Given the description of an element on the screen output the (x, y) to click on. 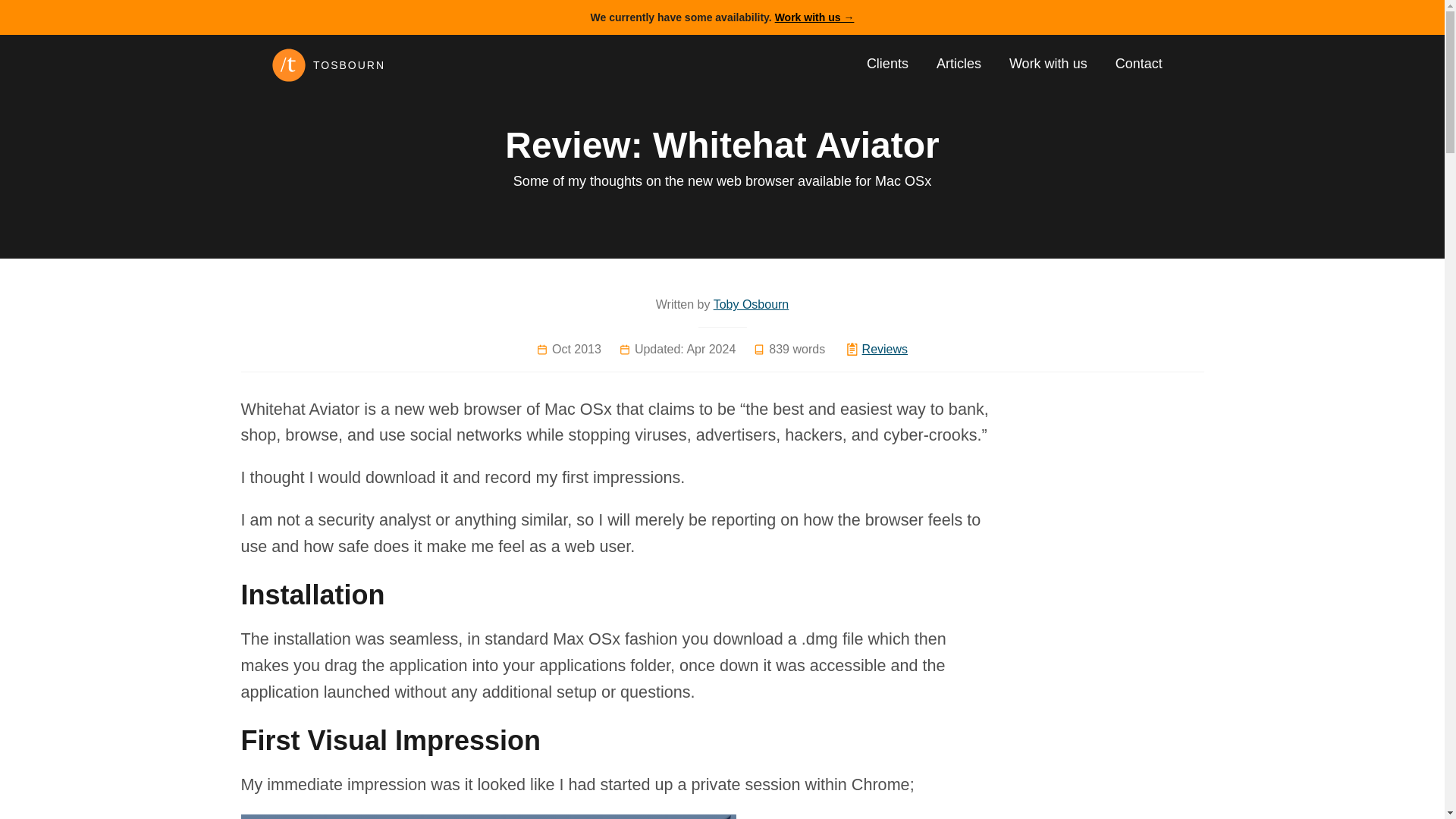
TOSBOURN (413, 64)
Toby Osbourn (751, 304)
Articles (958, 63)
Contact (1138, 63)
Reviews (884, 349)
Clients (887, 63)
Work with us (1048, 63)
